Given the description of an element on the screen output the (x, y) to click on. 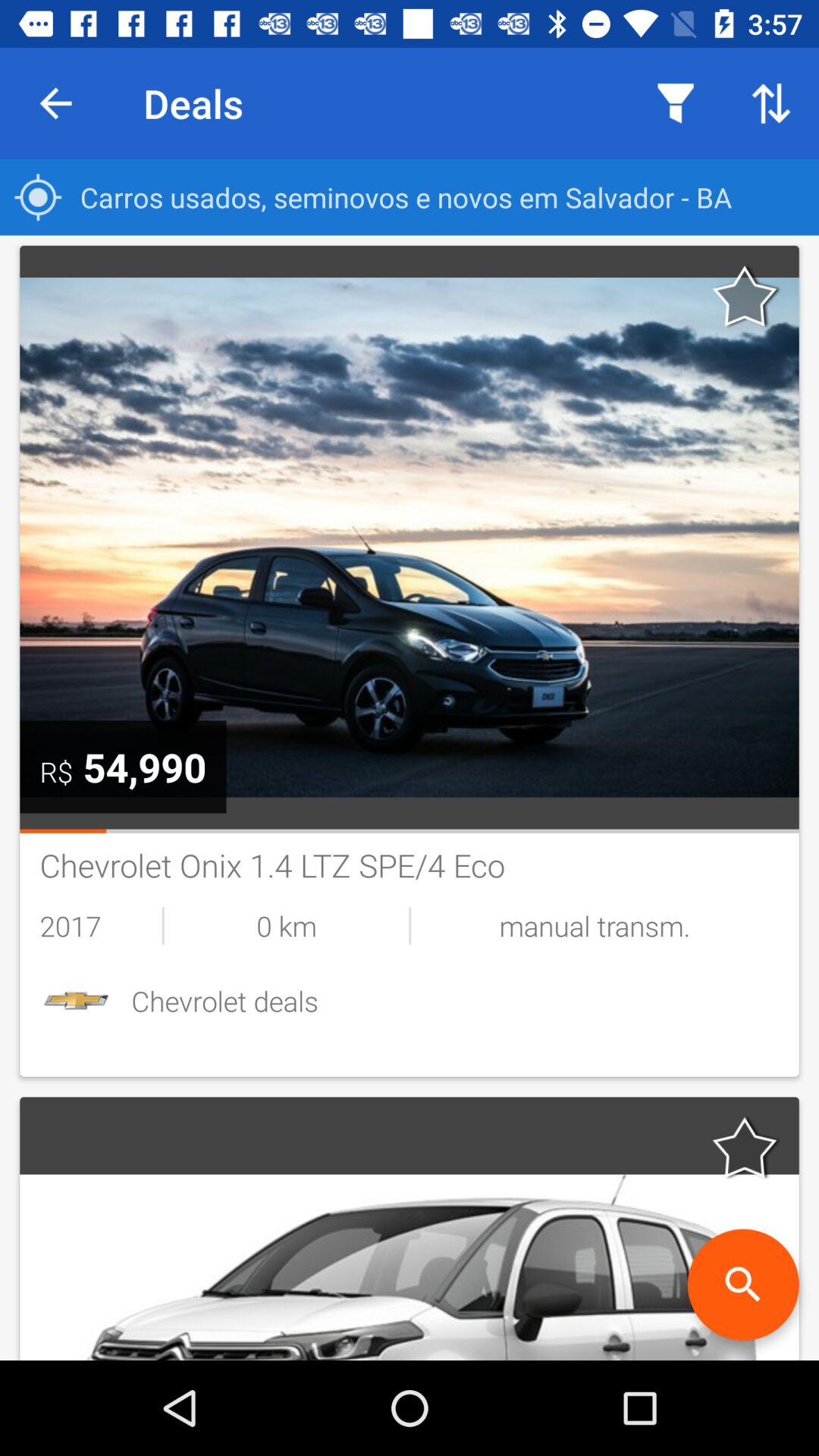
open search (743, 1284)
